Given the description of an element on the screen output the (x, y) to click on. 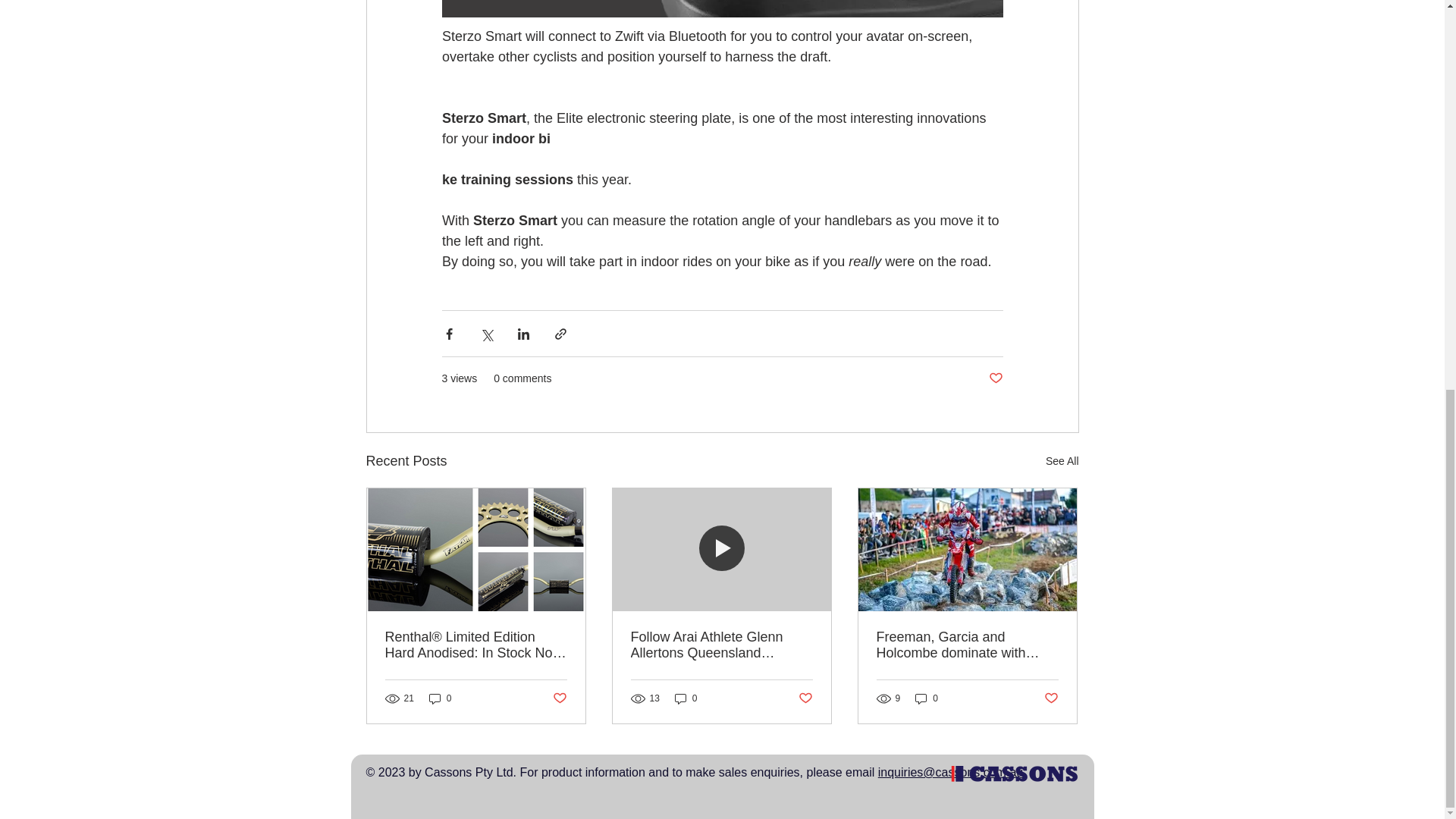
0 (440, 698)
0 (926, 698)
Post not marked as liked (995, 378)
Post not marked as liked (804, 698)
Post not marked as liked (558, 698)
0 (685, 698)
See All (1061, 461)
